Given the description of an element on the screen output the (x, y) to click on. 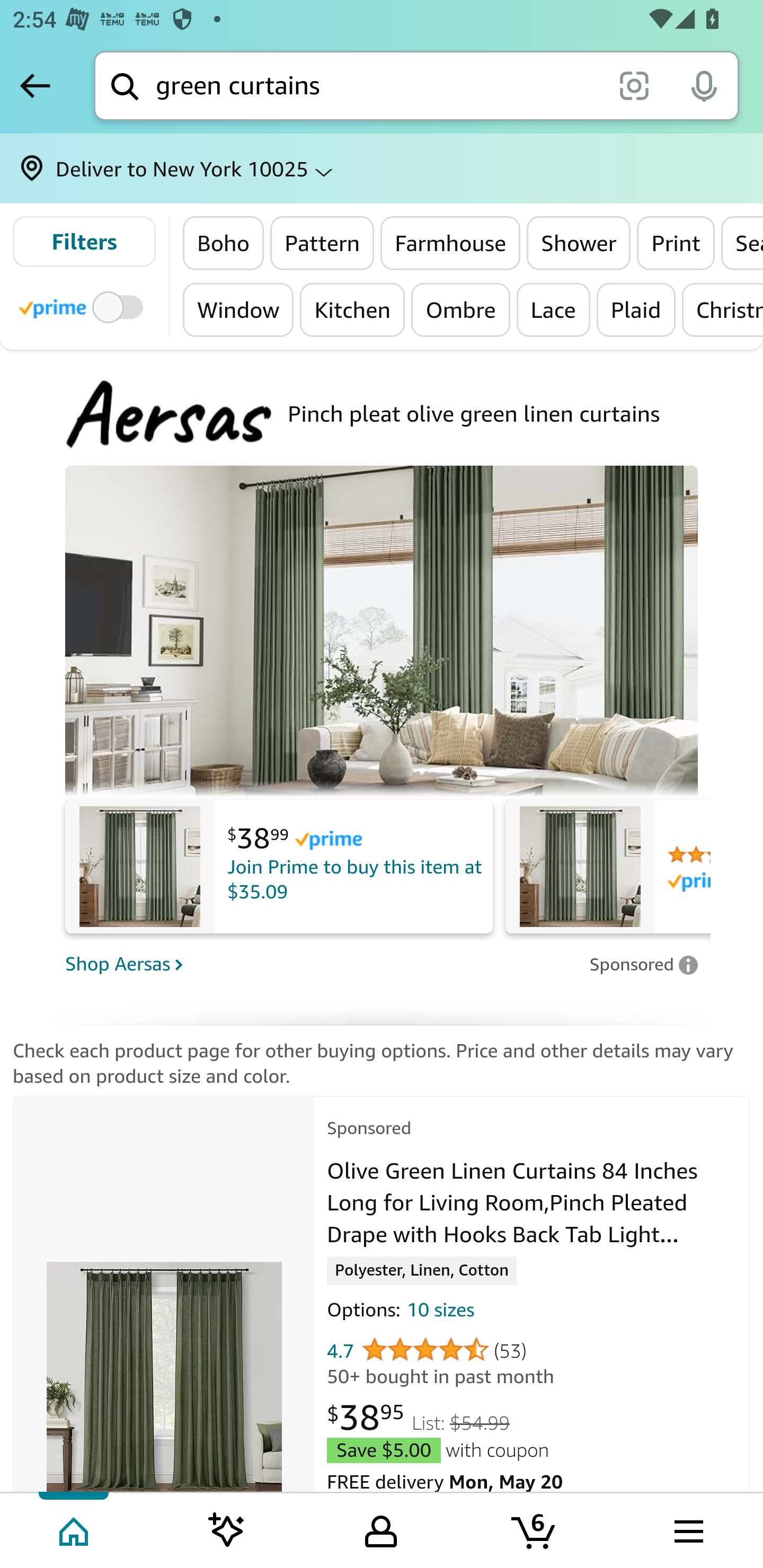
Back (35, 85)
scan it (633, 85)
Deliver to New York 10025 ⌵ (381, 168)
Filters (83, 241)
Boho (224, 242)
Pattern (322, 242)
Farmhouse (450, 242)
Shower (578, 242)
Print (675, 242)
Toggle to filter by Prime products Prime Eligible (83, 306)
Window (238, 309)
Kitchen (352, 309)
Ombre (460, 309)
Lace (553, 309)
Plaid (635, 309)
Christmas (721, 309)
Shop Aersas Shop  Aersas  (321, 963)
Leave feedback on Sponsored ad (643, 964)
10 sizes (440, 1312)
Home Tab 1 of 5 (75, 1529)
Inspire feed Tab 2 of 5 (227, 1529)
Your Amazon.com Tab 3 of 5 (380, 1529)
Cart 6 items Tab 4 of 5 6 (534, 1529)
Browse menu Tab 5 of 5 (687, 1529)
